Given the description of an element on the screen output the (x, y) to click on. 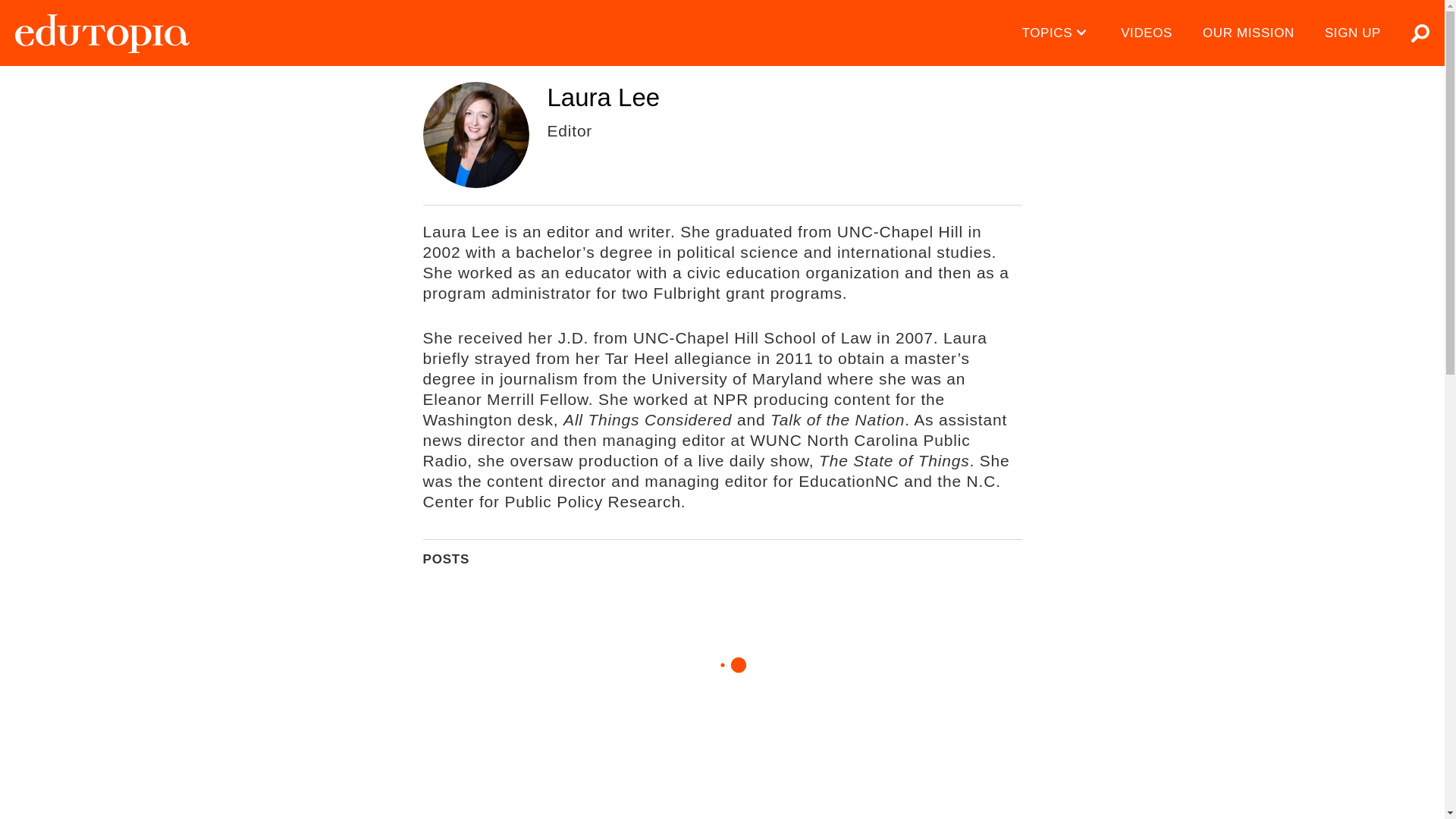
TOPICS (1056, 33)
Edutopia (101, 33)
Edutopia (101, 33)
SIGN UP (1352, 33)
OUR MISSION (1248, 33)
VIDEOS (1146, 33)
